Given the description of an element on the screen output the (x, y) to click on. 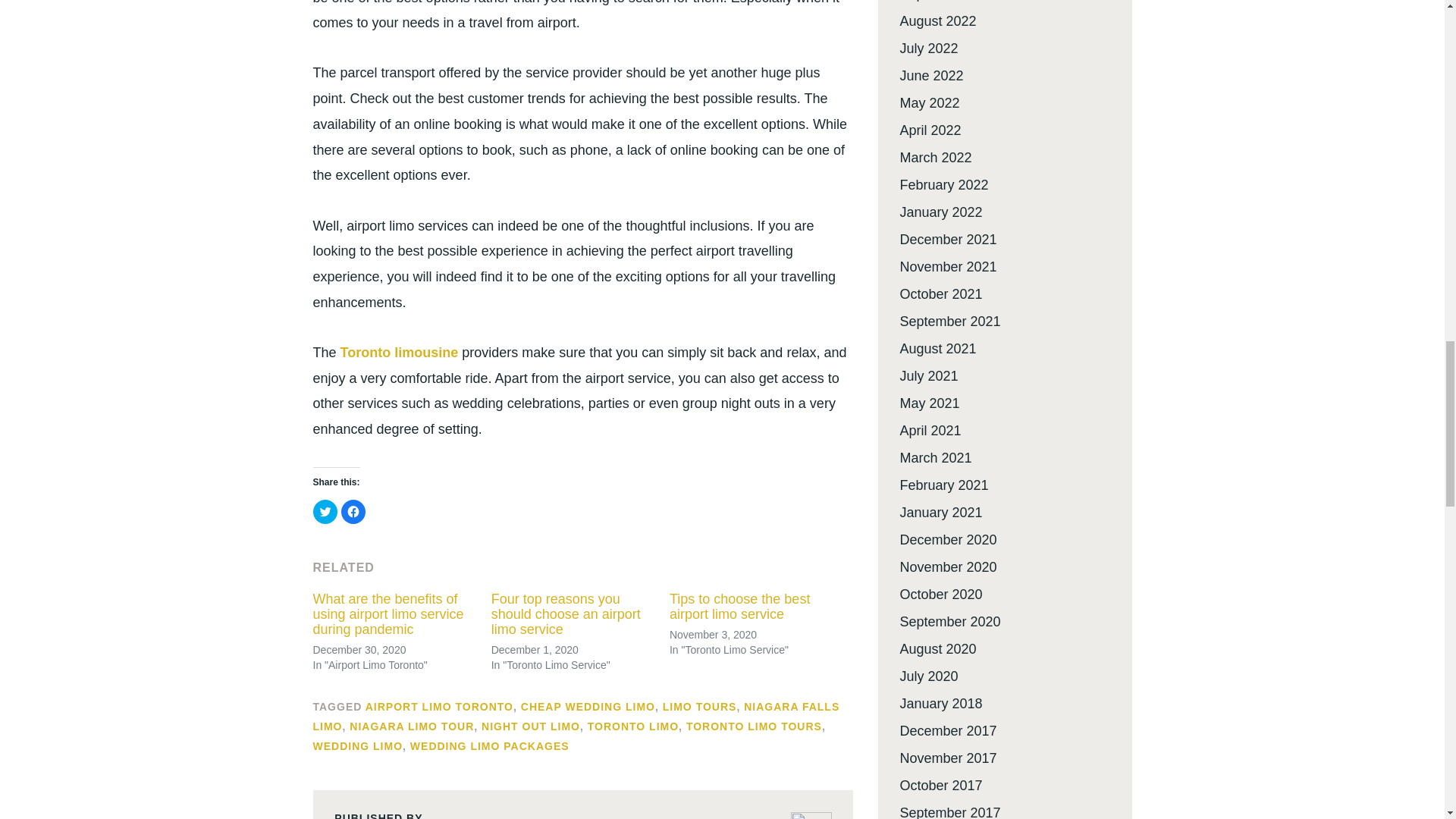
WEDDING LIMO (358, 746)
NIAGARA FALLS LIMO (576, 716)
NIGHT OUT LIMO (530, 726)
Four top reasons you should choose an airport limo service (566, 614)
Four top reasons you should choose an airport limo service (566, 614)
Tips to choose the best airport limo service (739, 606)
TORONTO LIMO TOURS (753, 726)
WEDDING LIMO PACKAGES (489, 746)
AIRPORT LIMO TORONTO (439, 706)
Click to share on Facebook (352, 511)
Tips to choose the best airport limo service (739, 606)
Toronto limousine (399, 352)
CHEAP WEDDING LIMO (588, 706)
